Given the description of an element on the screen output the (x, y) to click on. 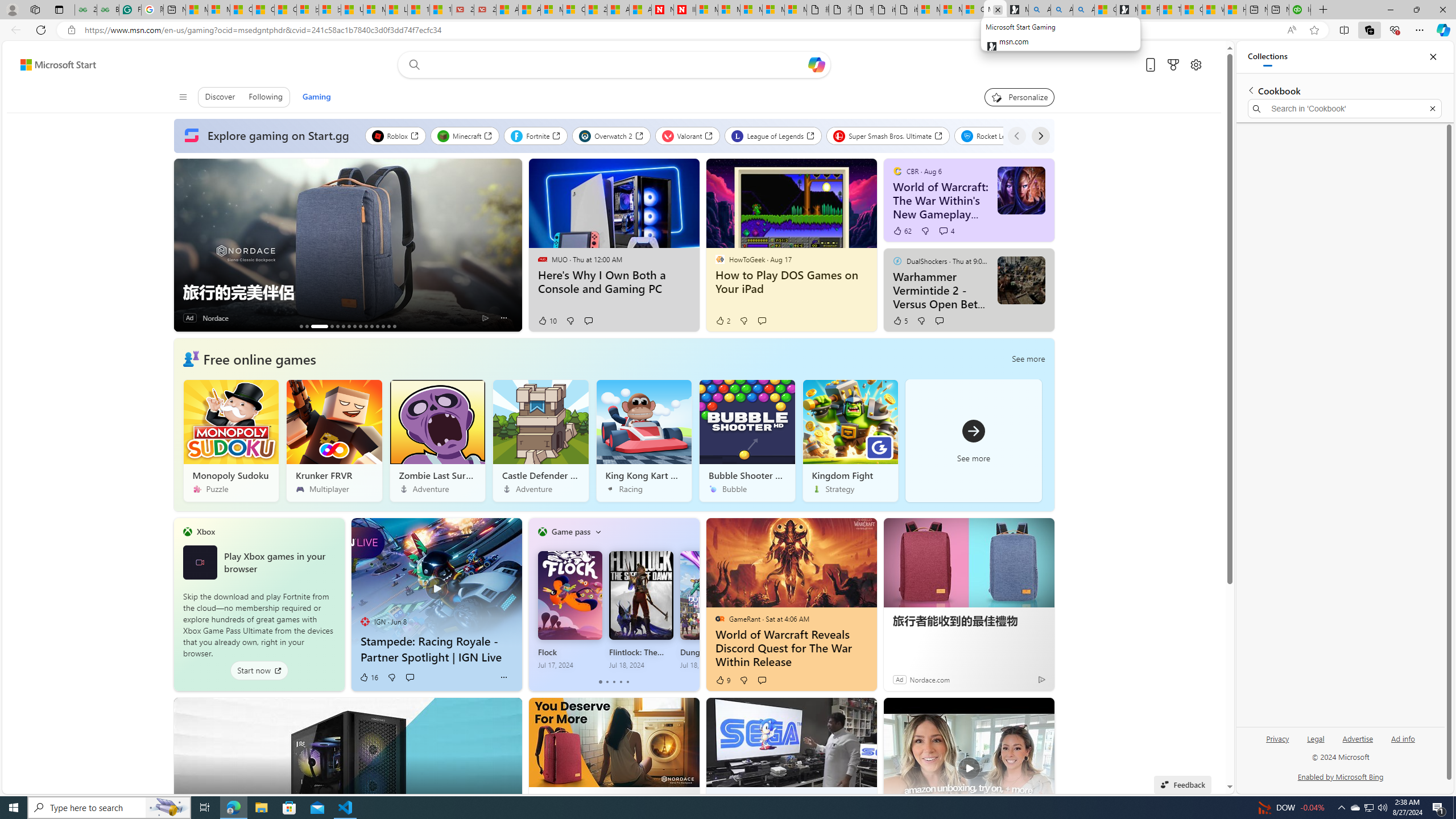
Castle Defender Saga (540, 440)
Flock Jul 17, 2024 (569, 610)
Free AI Writing Assistance for Students | Grammarly (130, 9)
Explore gaming on Start.gg (269, 135)
Fortnite (535, 135)
Monopoly Sudoku (230, 440)
62 Like (901, 230)
Previous slide (181, 245)
